Given the description of an element on the screen output the (x, y) to click on. 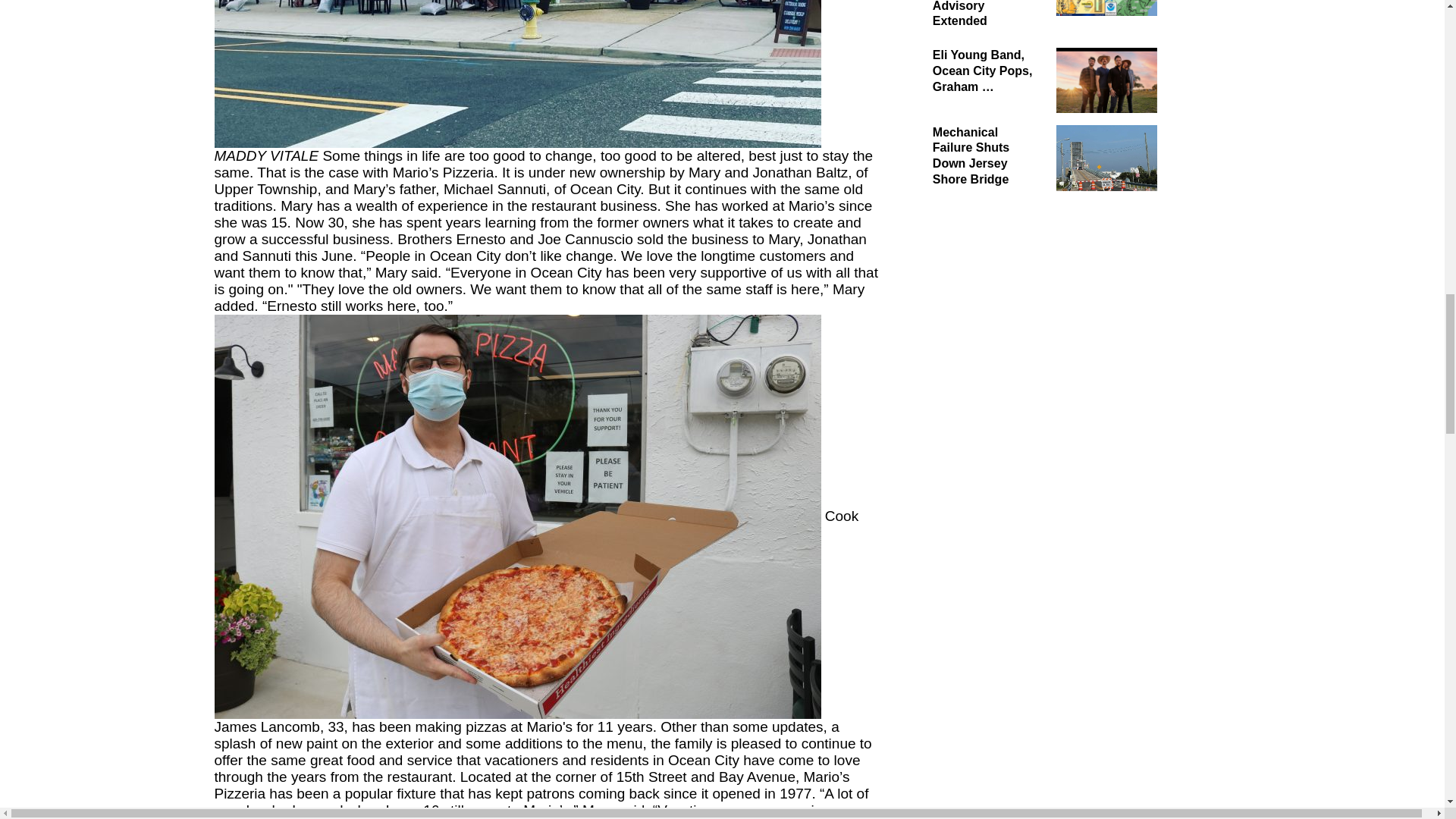
3rd party ad content (1024, 502)
3rd party ad content (1024, 300)
3rd party ad content (1024, 815)
3rd party ad content (1024, 704)
